Given the description of an element on the screen output the (x, y) to click on. 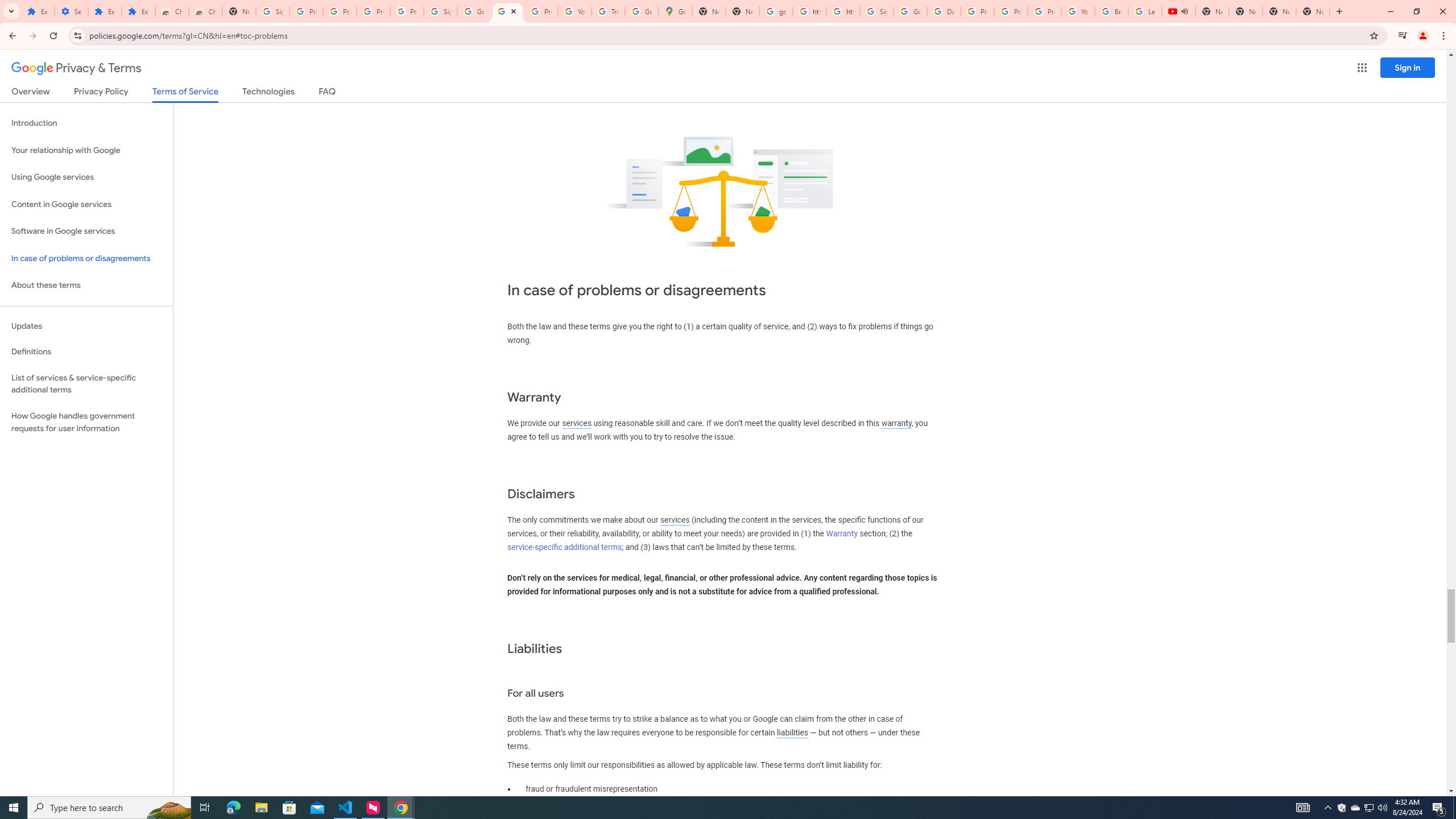
https://scholar.google.com/ (842, 11)
YouTube (1077, 11)
Warranty (841, 533)
Chrome Web Store (171, 11)
Software in Google services (86, 230)
New Tab (1313, 11)
Privacy Help Center - Policies Help (976, 11)
